Given the description of an element on the screen output the (x, y) to click on. 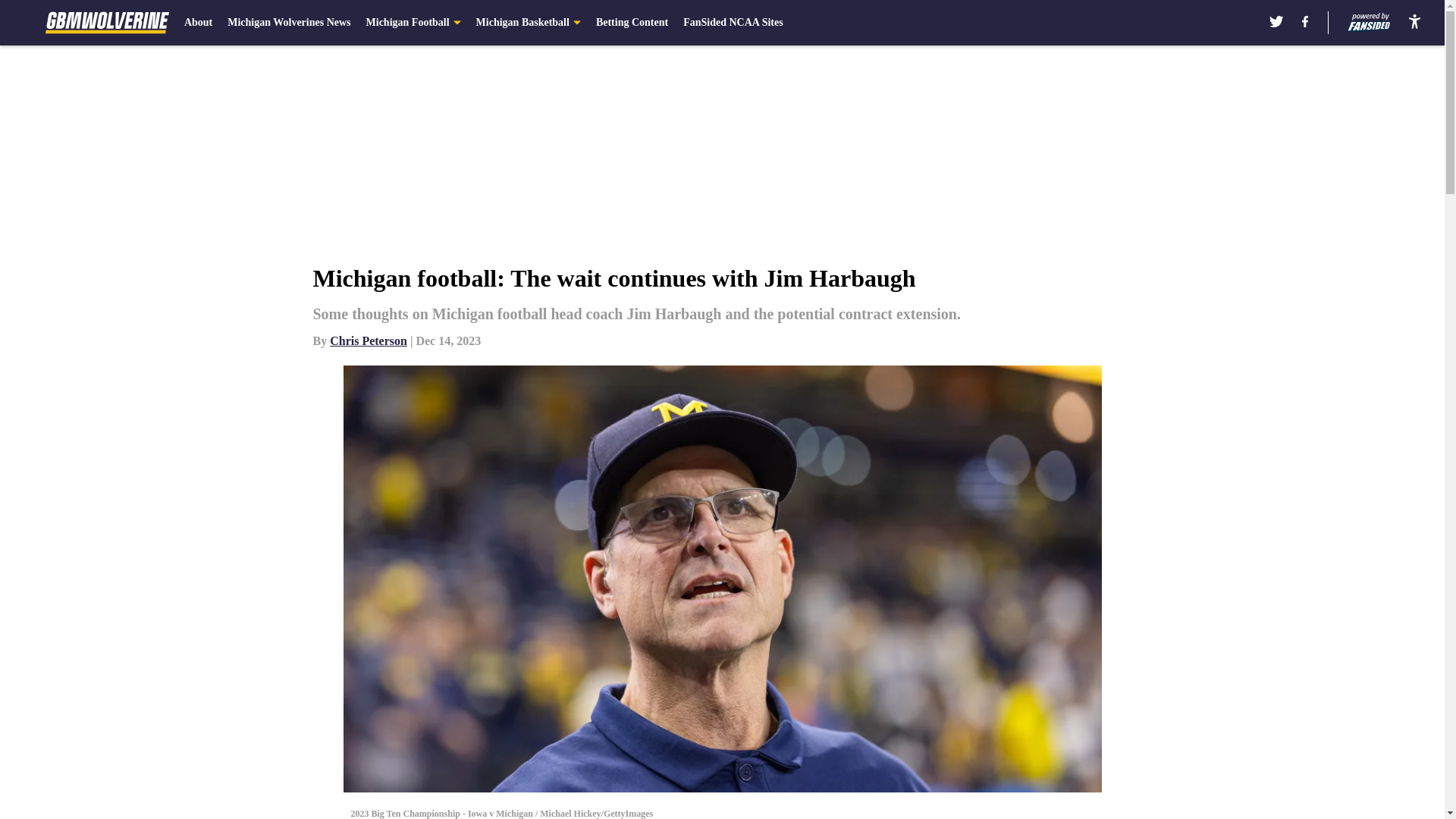
Chris Peterson (368, 340)
Betting Content (631, 22)
About (198, 22)
Michigan Wolverines News (288, 22)
FanSided NCAA Sites (732, 22)
